Given the description of an element on the screen output the (x, y) to click on. 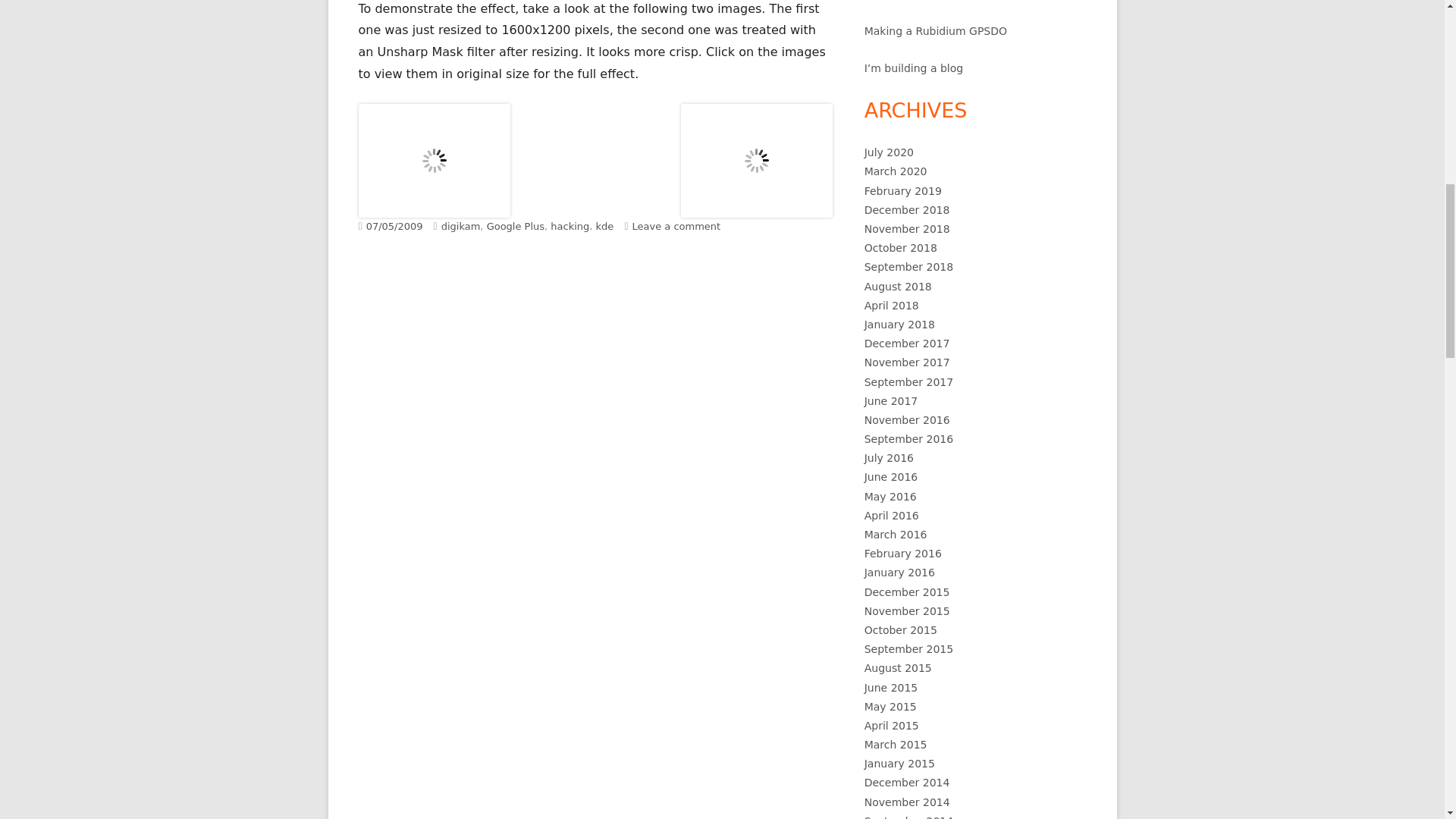
December 2018 (907, 209)
Making a Rubidium GPSDO (935, 30)
November 2018 (907, 228)
November 2017 (907, 362)
February 2019 (903, 191)
digikam (460, 225)
hacking (569, 225)
March 2020 (895, 171)
kde (604, 225)
August 2018 (897, 286)
January 2018 (899, 324)
December 2017 (907, 343)
July 2020 (889, 152)
October 2018 (900, 247)
